Given the description of an element on the screen output the (x, y) to click on. 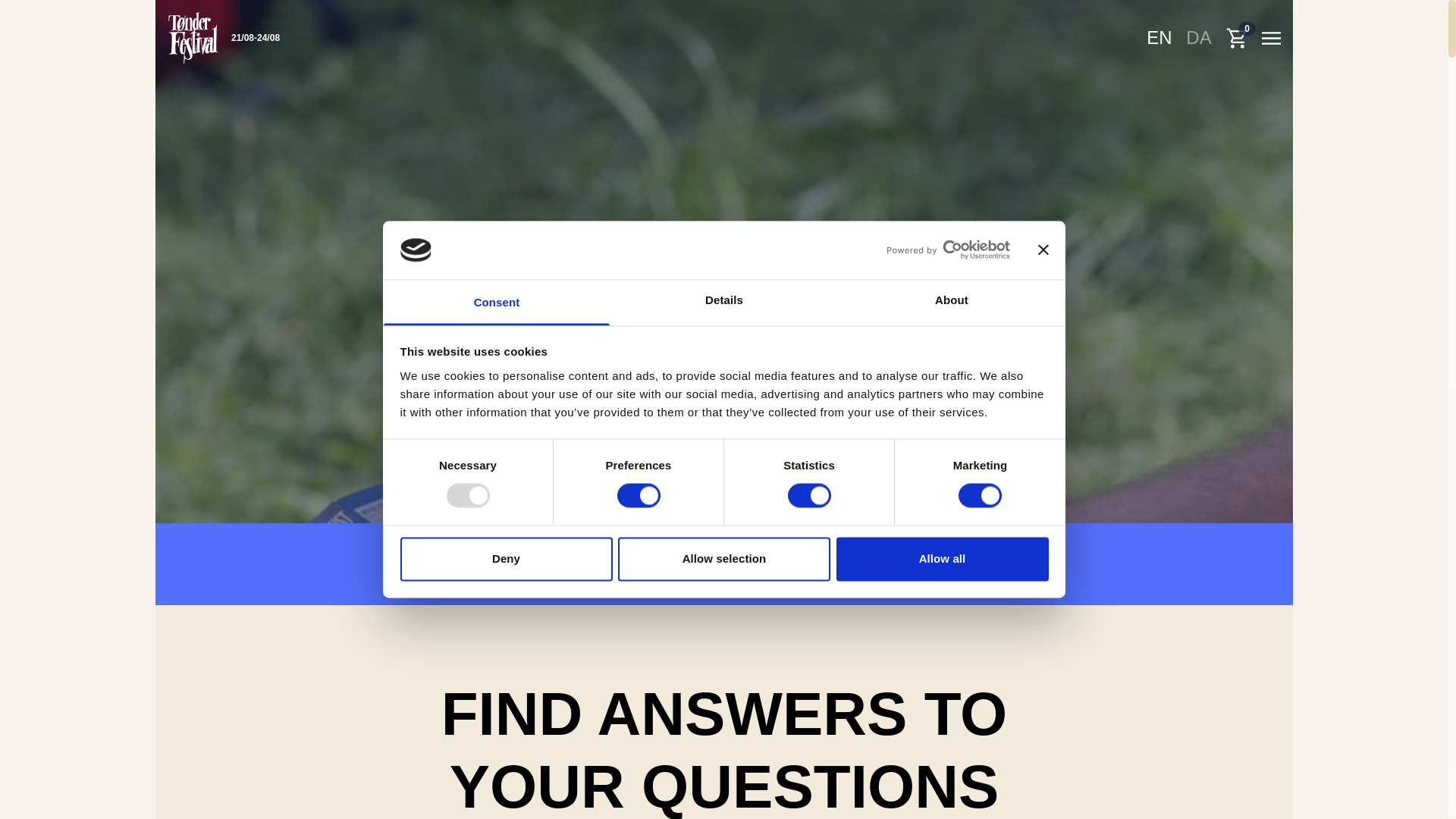
Allow selection (723, 558)
Details (724, 302)
Consent (496, 302)
Deny (506, 558)
Allow all (941, 558)
About (951, 302)
